Given the description of an element on the screen output the (x, y) to click on. 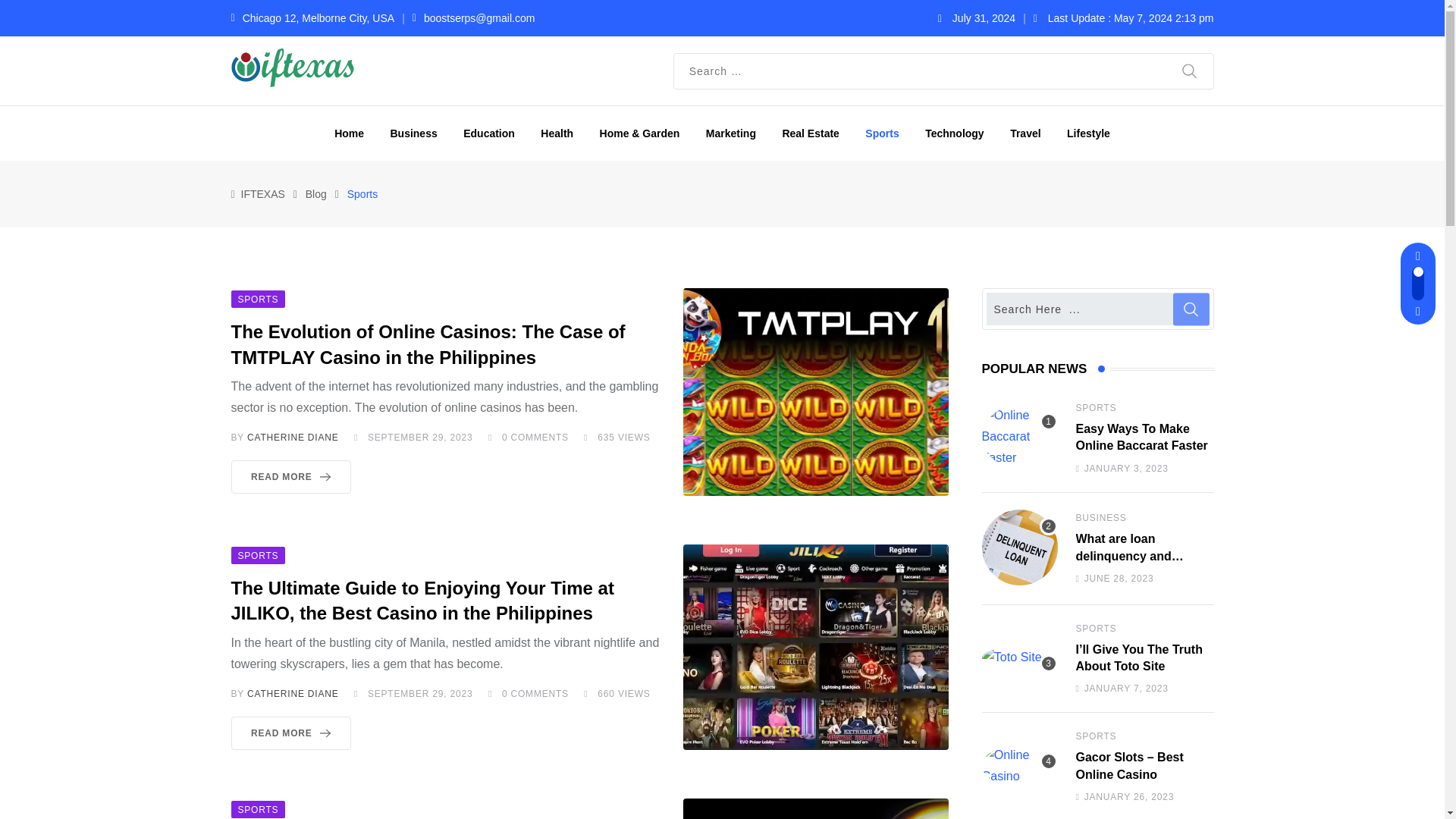
Blog (315, 193)
Lifestyle (1088, 133)
Health (557, 133)
Easy Ways To Make Online Baccarat Faster (1019, 436)
Travel (1024, 133)
Marketing (730, 133)
What are loan delinquency and default? (1019, 547)
Sports (881, 133)
Technology (954, 133)
SPORTS (257, 297)
Business (413, 133)
Home (349, 133)
0 COMMENTS (535, 437)
Real Estate (810, 133)
Go to IFTEXAS. (263, 193)
